Given the description of an element on the screen output the (x, y) to click on. 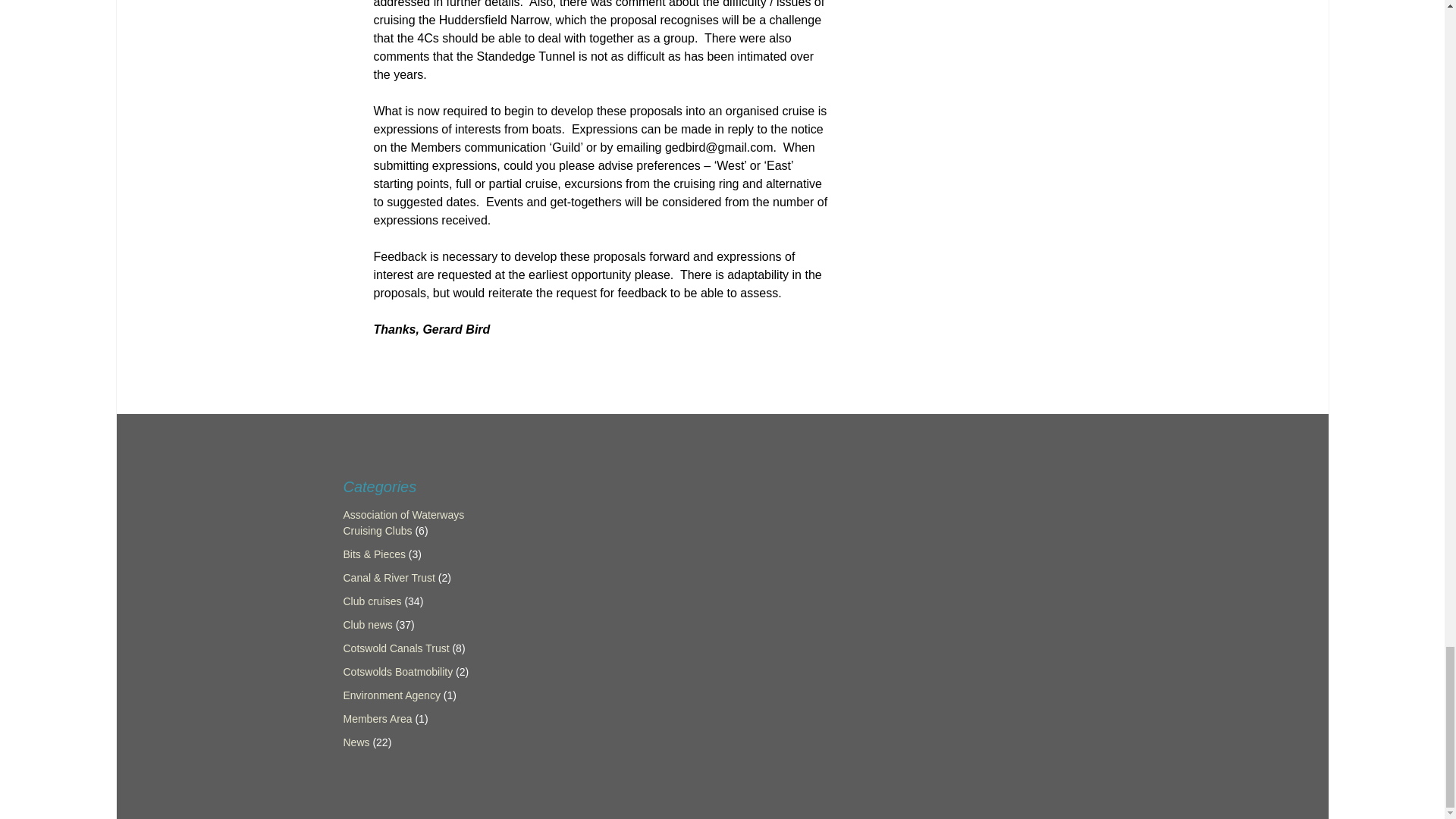
News (355, 742)
Club cruises (371, 601)
Cotswolds Boatmobility (397, 671)
Association of Waterways Cruising Clubs (403, 522)
Club news (366, 624)
Members Area (377, 718)
Cotswold Canals Trust (395, 648)
Environment Agency (390, 695)
